Given the description of an element on the screen output the (x, y) to click on. 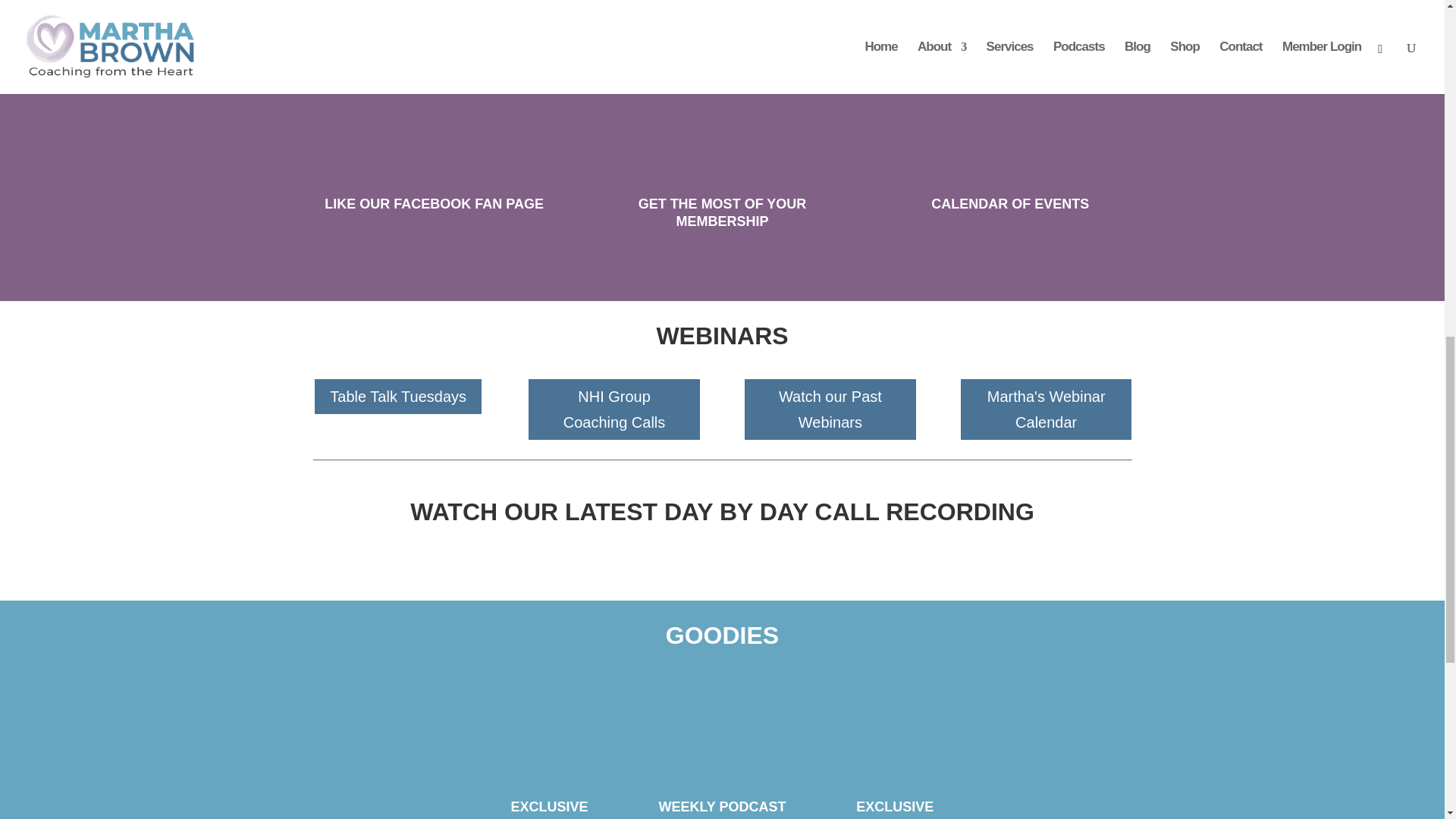
CALENDAR OF EVENTS (1010, 203)
EXCLUSIVE DOWNLOADS (894, 809)
Table Talk Tuesdays (397, 396)
JOIN OUR PRIVATE FACEBOOK COMMUNITY (434, 36)
PRODUCTS I LOVE (721, 28)
NHI Group Coaching Calls (613, 409)
Martha's Webinar Calendar (1045, 409)
LIKE OUR FACEBOOK FAN PAGE (433, 203)
Watch our Past Webinars (829, 409)
GET THE MOST OF YOUR MEMBERSHIP (722, 212)
